Given the description of an element on the screen output the (x, y) to click on. 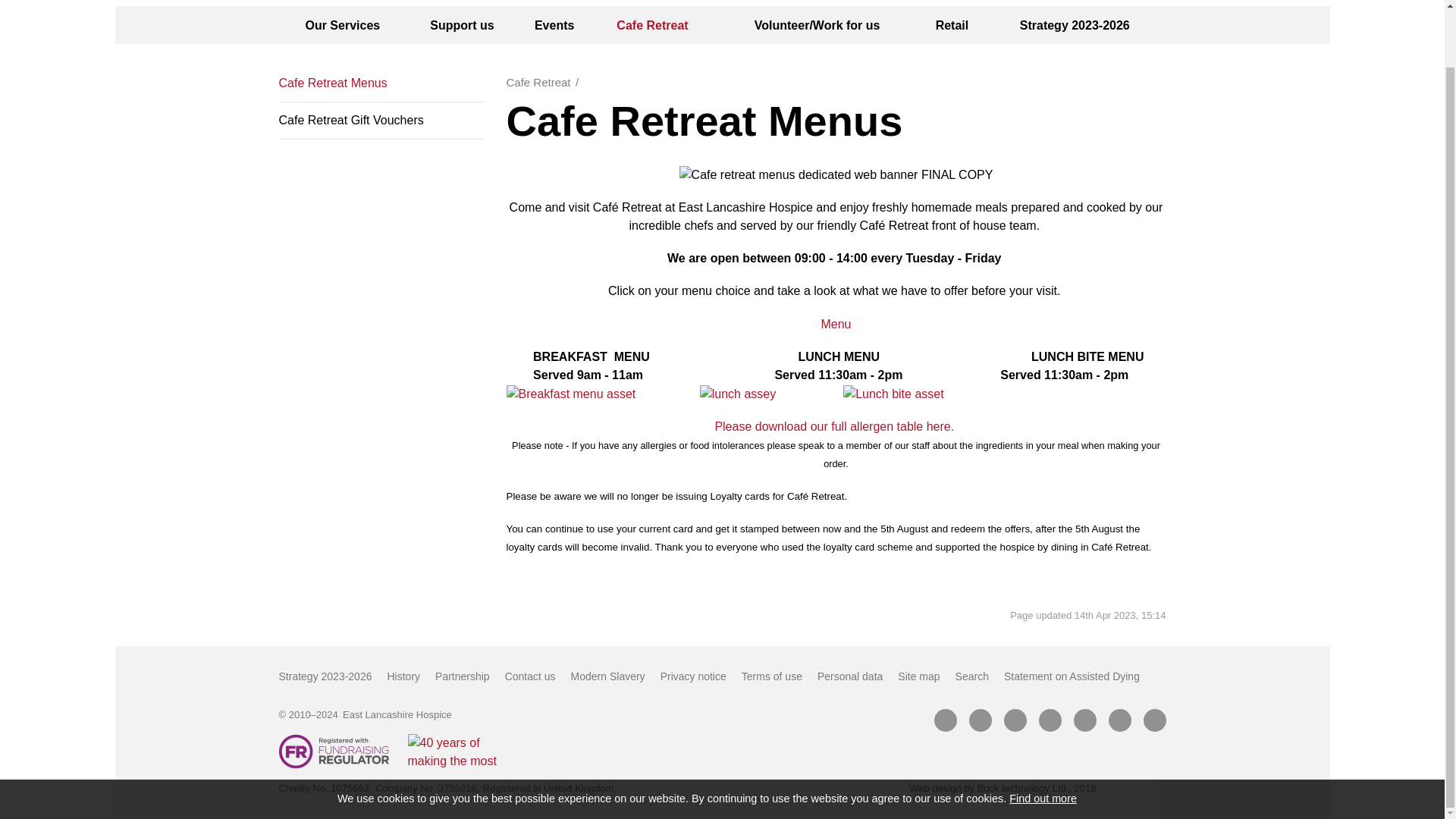
Pinterest (1084, 720)
RSS (1154, 720)
Our Services (343, 24)
Continue (1096, 736)
Facebook (945, 720)
How East Lancashire Hospice can help (343, 24)
LinkedIn (1049, 720)
YouTube (1014, 720)
Instagram (1119, 720)
Twitter (979, 720)
